Given the description of an element on the screen output the (x, y) to click on. 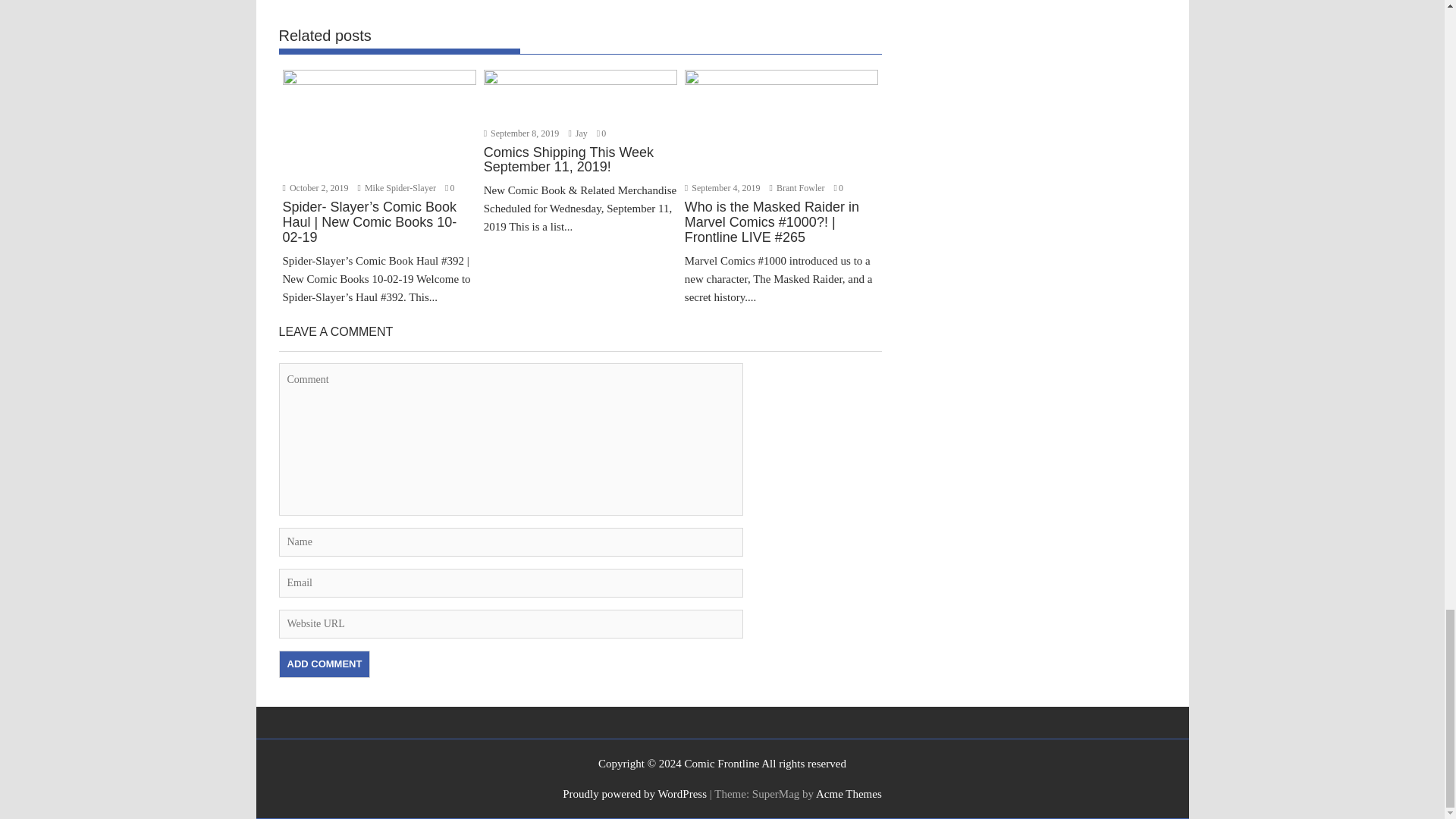
Jay (578, 132)
Mike Spider-Slayer (398, 187)
Brant Fowler (798, 187)
Add Comment (325, 664)
